Given the description of an element on the screen output the (x, y) to click on. 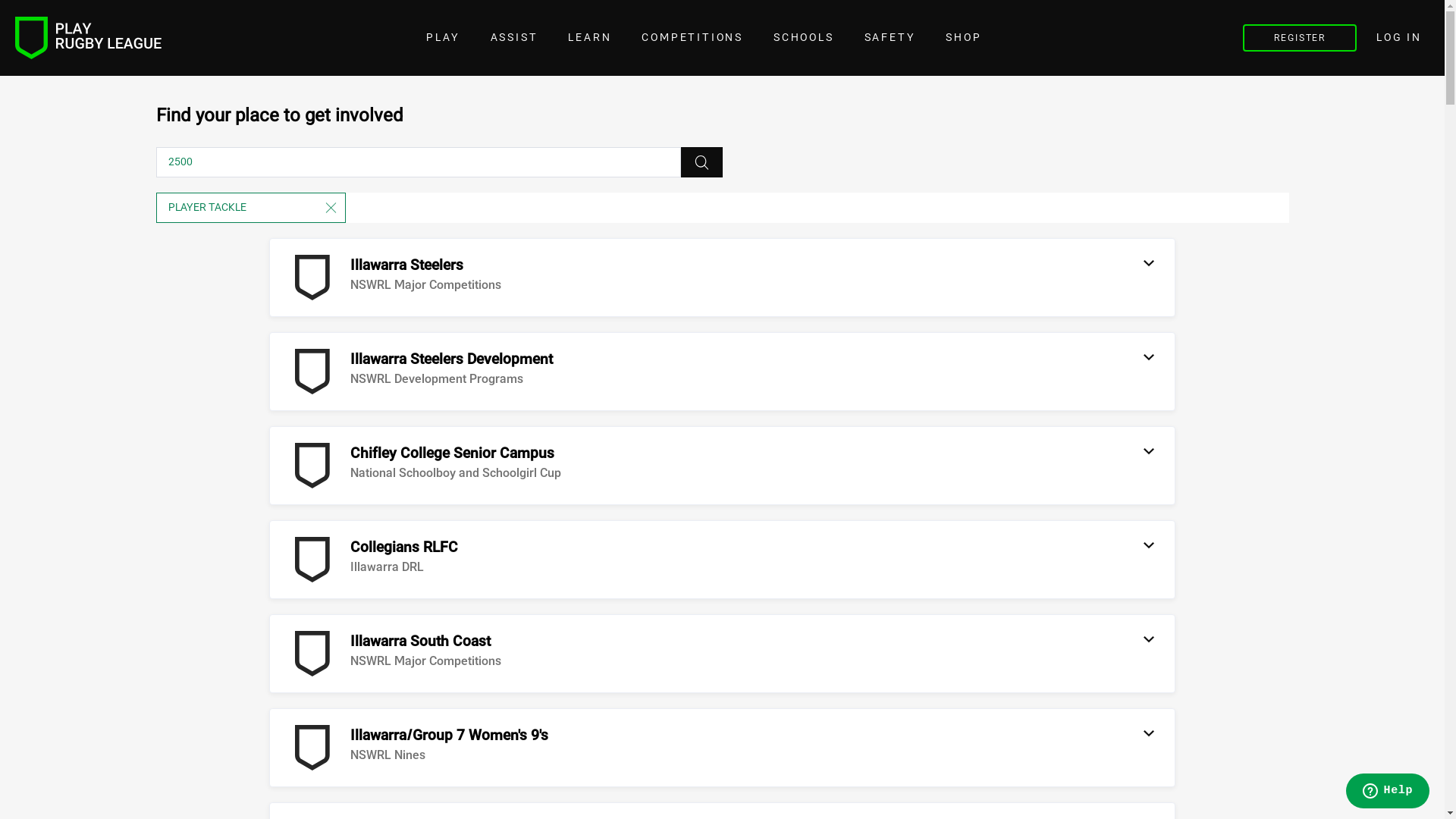
Illawarra South Coast
NSWRL Major Competitions Element type: text (395, 653)
Illawarra Steelers
NSWRL Major Competitions Element type: text (395, 277)
Illawarra Steelers Development
NSWRL Development Programs Element type: text (421, 371)
Collegians RLFC
Illawarra DRL Element type: text (373, 559)
REGISTER Element type: text (1299, 37)
Opens a widget where you can find more information Element type: hover (1387, 792)
Illawarra/Group 7 Women's 9's
NSWRL Nines Element type: text (418, 747)
